Given the description of an element on the screen output the (x, y) to click on. 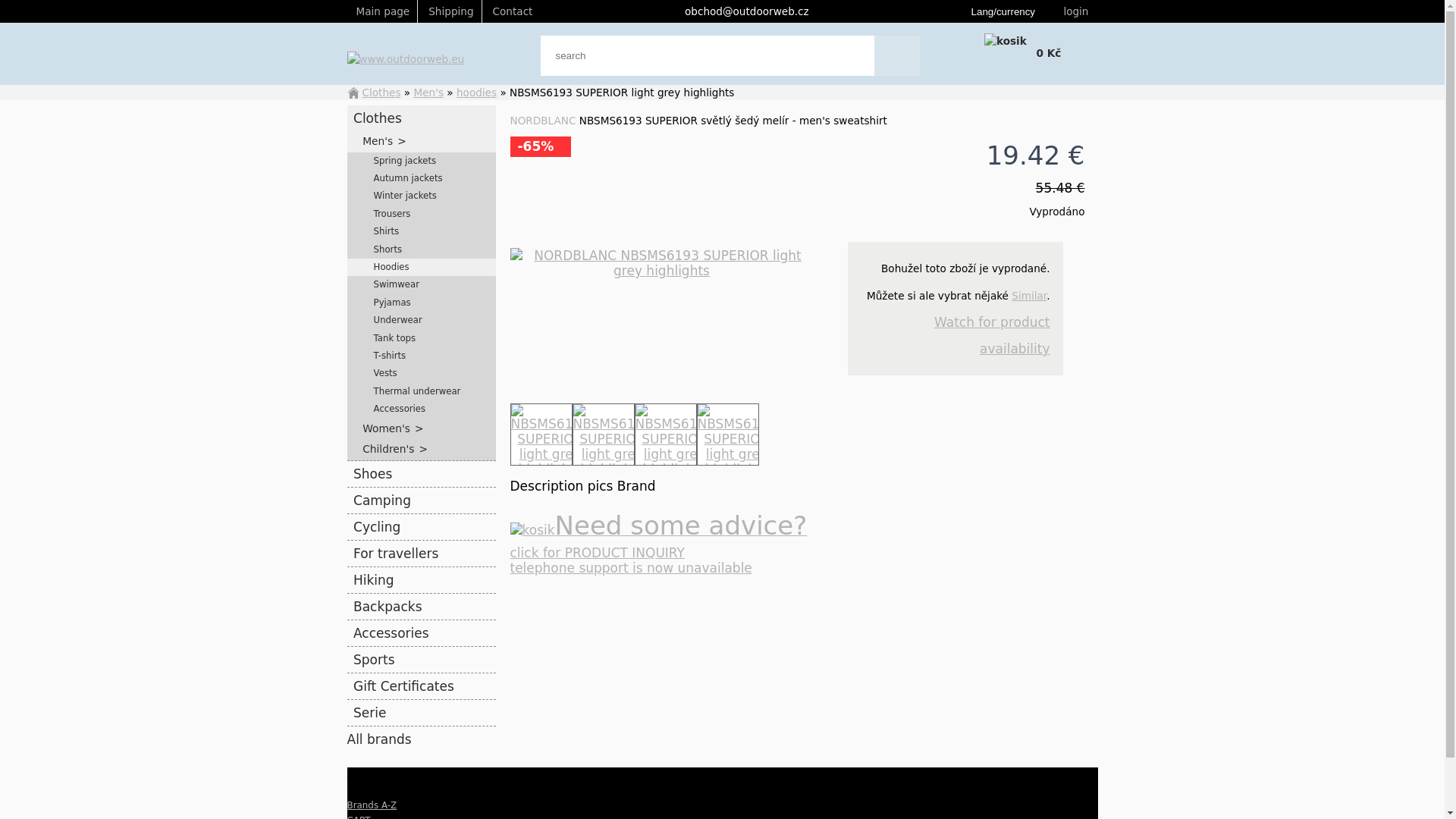
Pyjamas (421, 303)
winter jackets (421, 195)
Thermal underwear (421, 391)
winter jackets (421, 195)
vests (421, 373)
tank tops (421, 338)
Men's (421, 141)
T-shirts (421, 355)
women's (421, 428)
children's (421, 449)
